Given the description of an element on the screen output the (x, y) to click on. 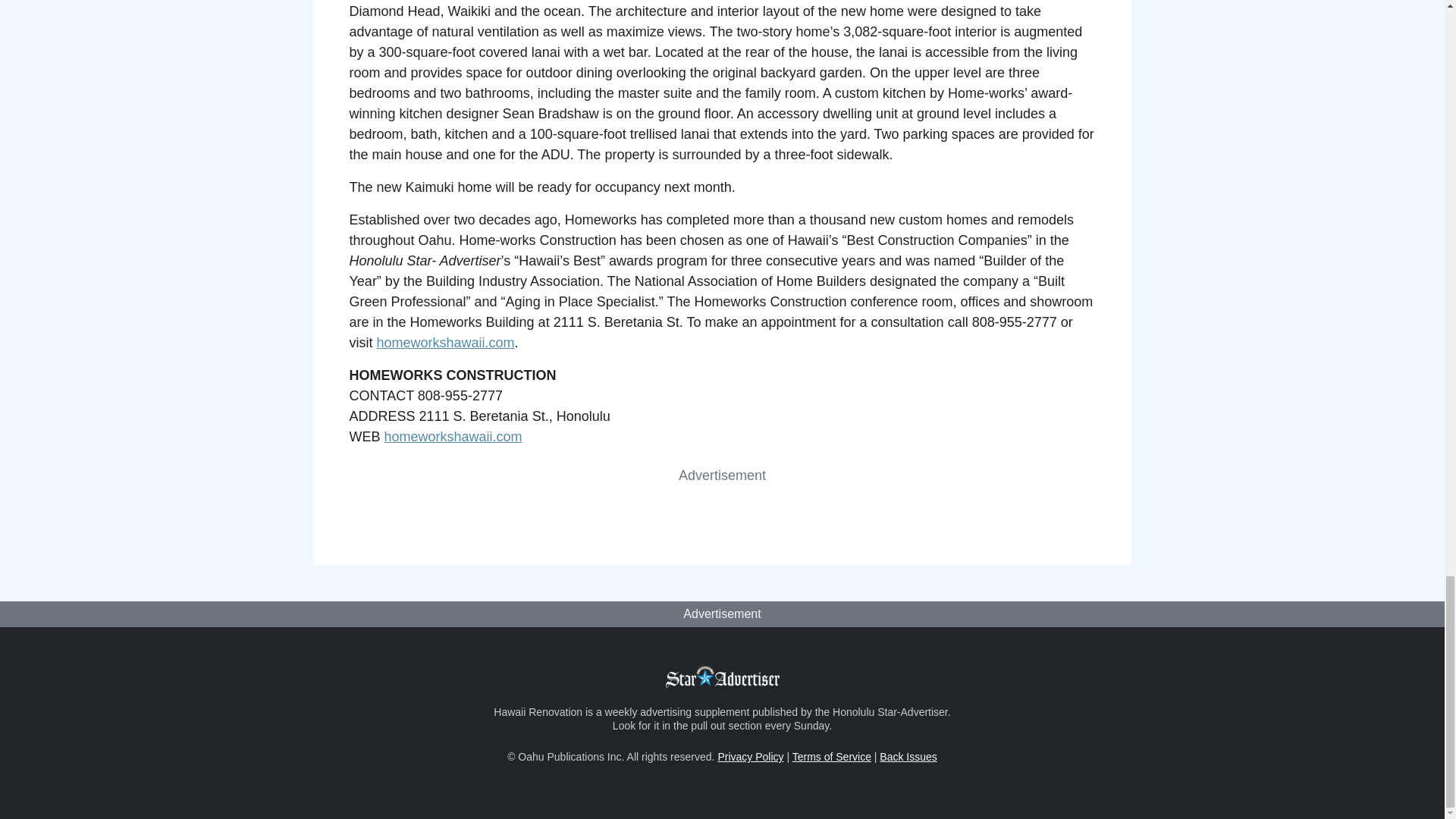
homeworkshawaii.com (444, 342)
Privacy Policy (750, 756)
homeworkshawaii.com (453, 436)
